Given the description of an element on the screen output the (x, y) to click on. 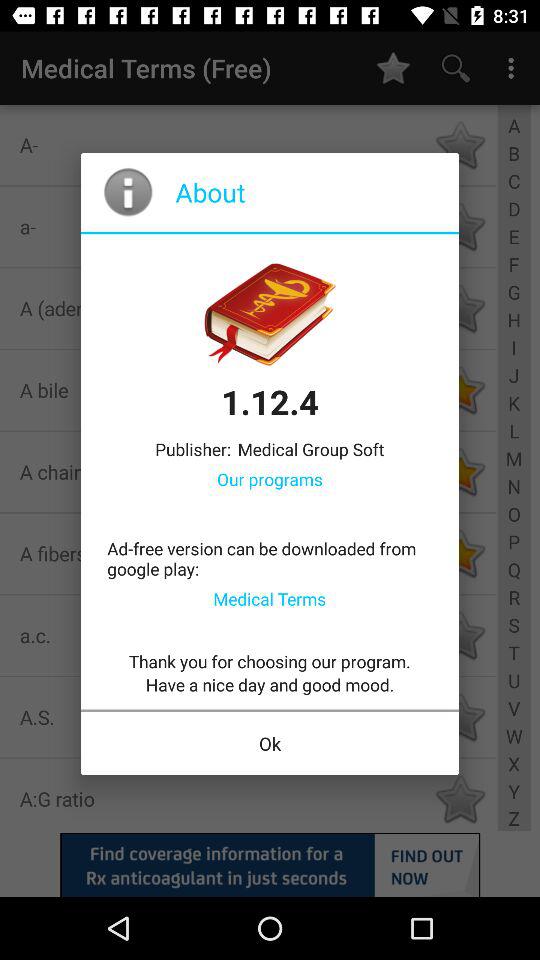
open item below the ad free version icon (269, 598)
